Given the description of an element on the screen output the (x, y) to click on. 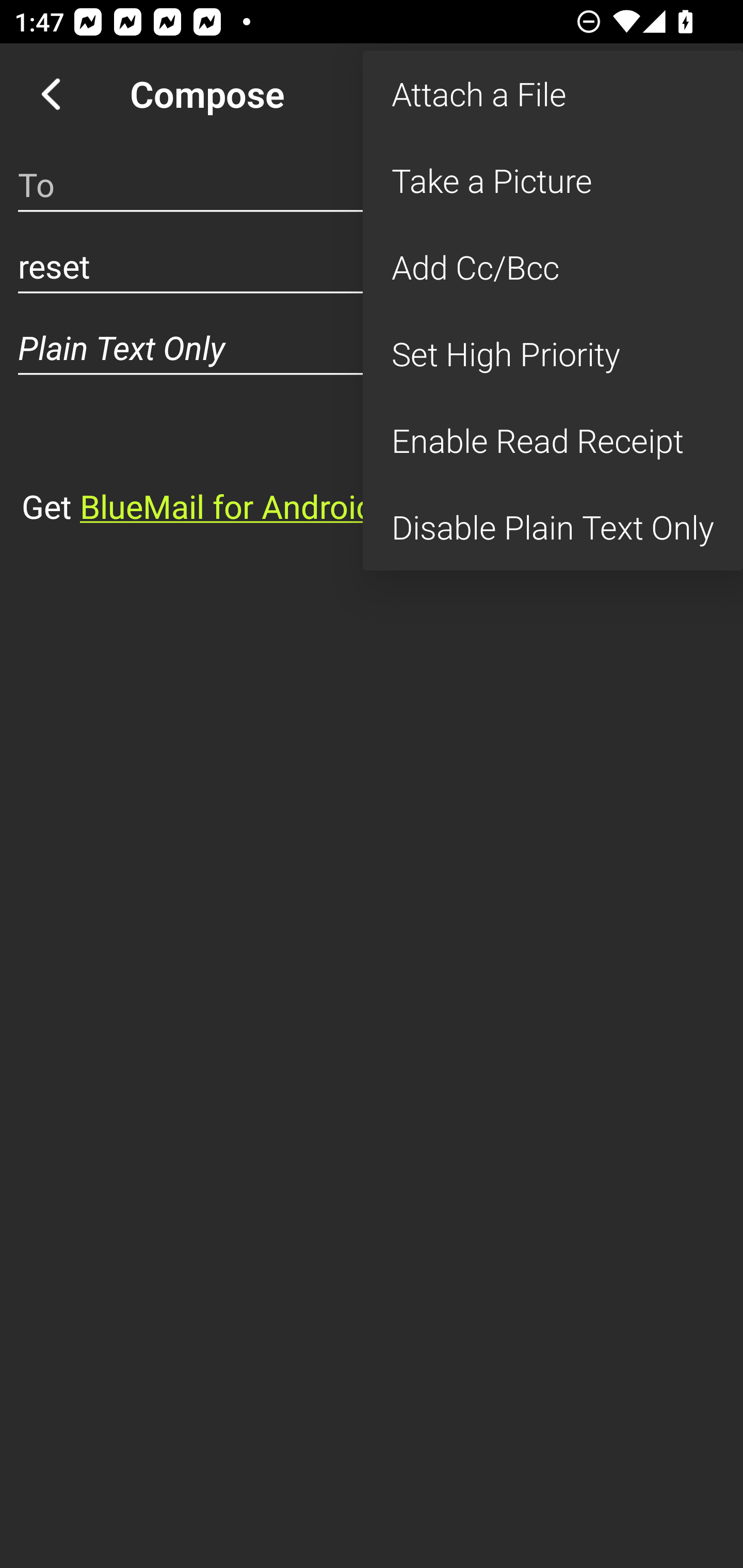
Attach a File (552, 93)
Take a Picture (552, 180)
Add Cc/Bcc (552, 267)
Set High Priority (552, 353)
Enable Read Receipt (552, 440)
Disable Plain Text Only (552, 527)
